Given the description of an element on the screen output the (x, y) to click on. 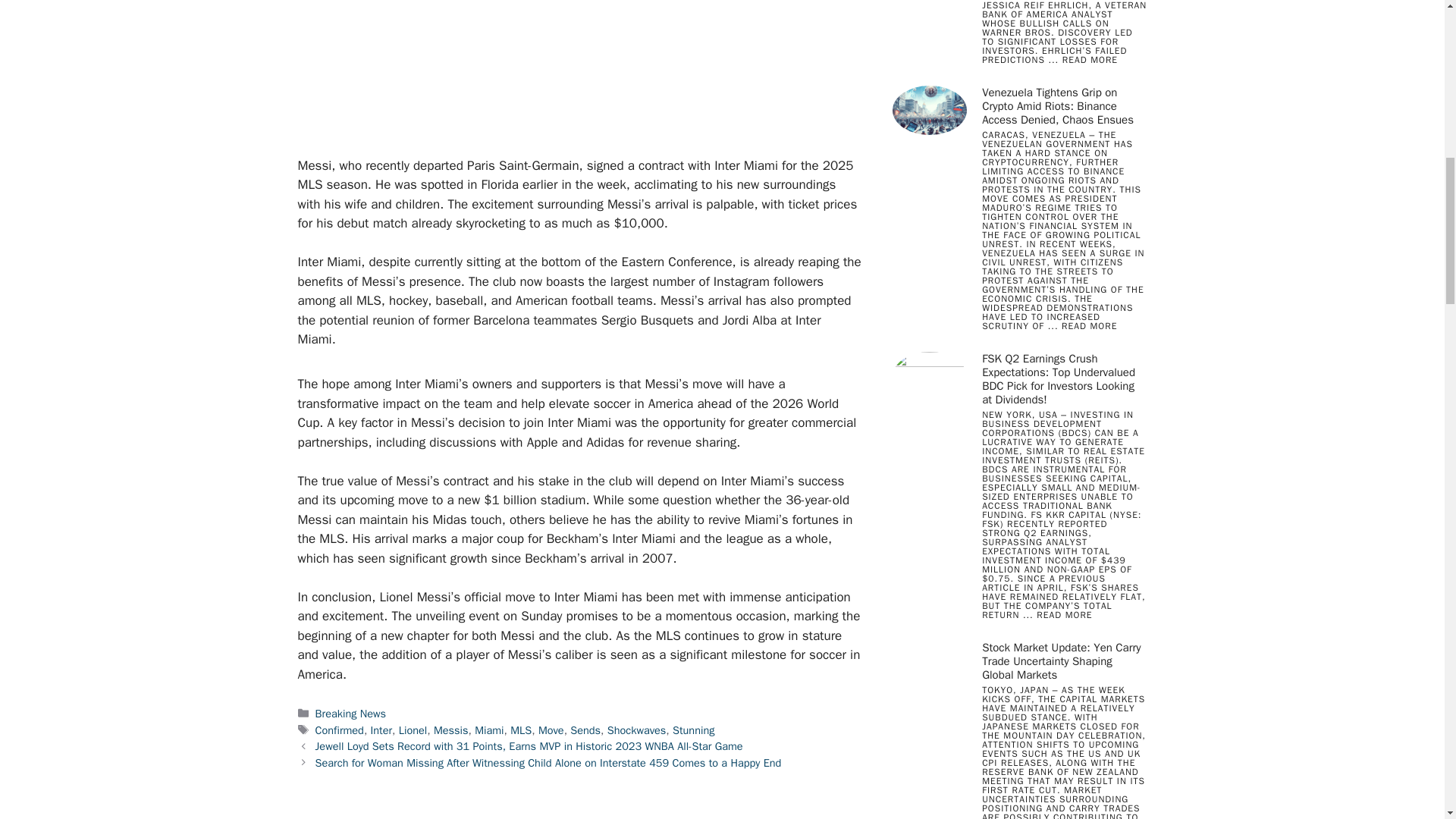
MLS (521, 730)
Inter (382, 730)
Shockwaves (636, 730)
Miami (488, 730)
Sends (584, 730)
Stunning (693, 730)
Lionel (412, 730)
